Given the description of an element on the screen output the (x, y) to click on. 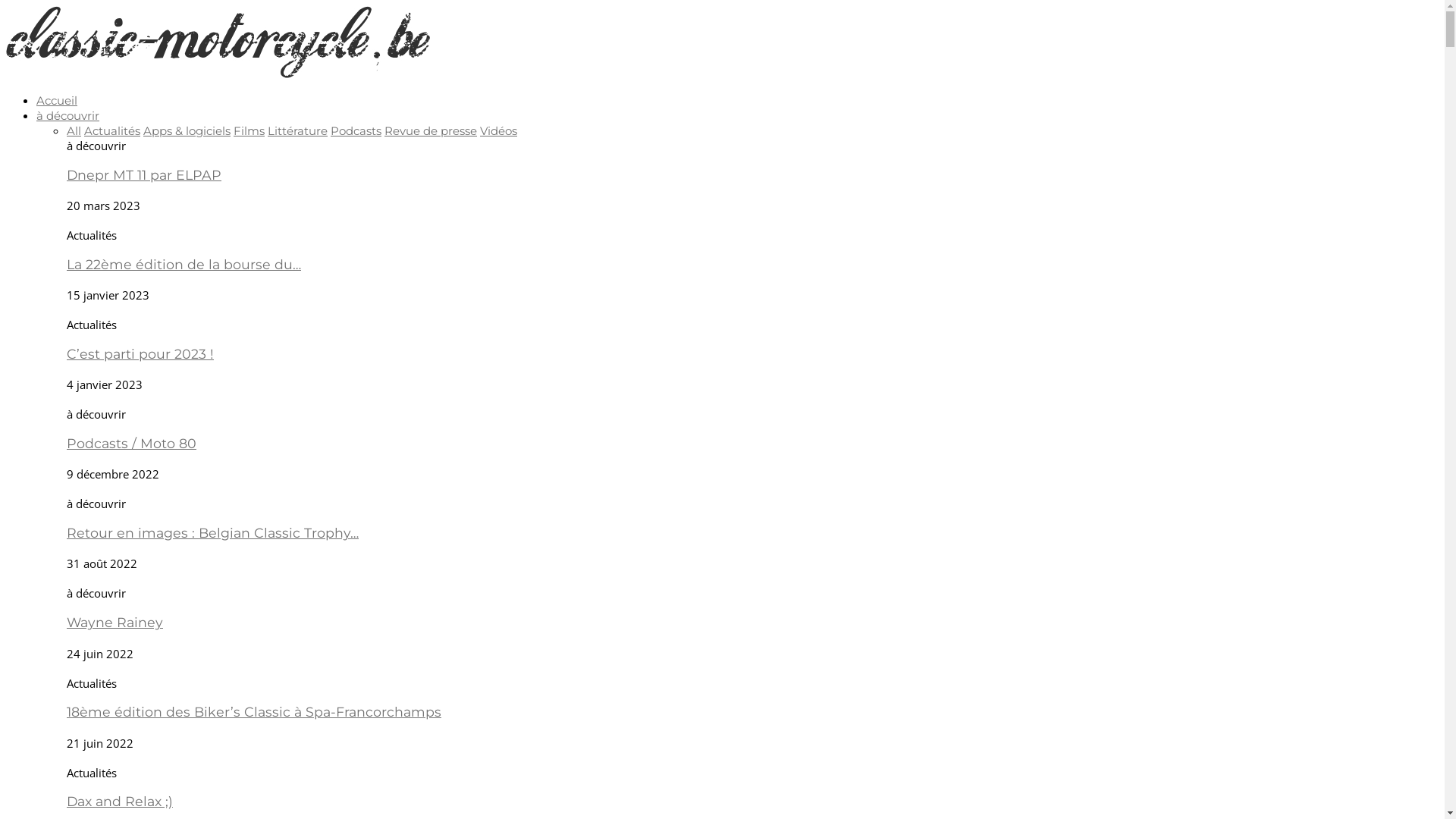
Podcasts / Moto 80 Element type: text (131, 443)
Podcasts Element type: text (355, 130)
Films Element type: text (248, 130)
Dnepr MT 11 par ELPAP Element type: text (143, 174)
All Element type: text (73, 130)
Wayne Rainey Element type: text (114, 622)
Accueil Element type: text (56, 100)
Apps & logiciels Element type: text (186, 130)
Dax and Relax ;) Element type: text (119, 801)
Revue de presse Element type: text (430, 130)
